Given the description of an element on the screen output the (x, y) to click on. 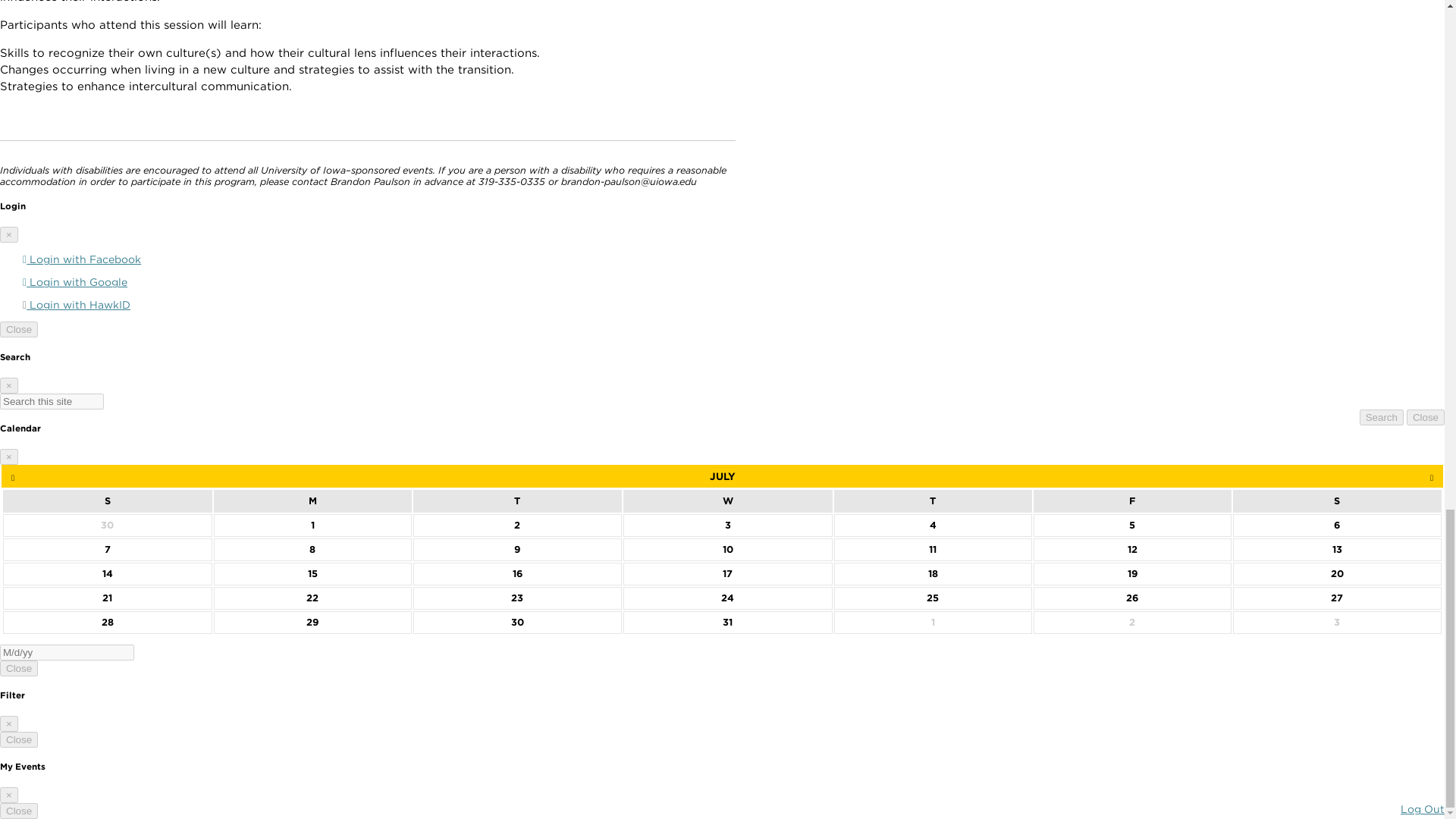
Thursday, July 4, 2024 (933, 525)
Wednesday, July 3, 2024 (727, 525)
Login with HawkID (77, 304)
Close (18, 329)
Login with Google (75, 282)
Friday, July 5, 2024 (1131, 525)
Saturday, July 6, 2024 (1337, 525)
Go to next month (1431, 476)
Sunday, July 7, 2024 (107, 549)
Wednesday (727, 500)
Search (1381, 417)
Login with Facebook (82, 259)
Monday, July 1, 2024 (313, 525)
Tuesday, July 9, 2024 (516, 549)
